Given the description of an element on the screen output the (x, y) to click on. 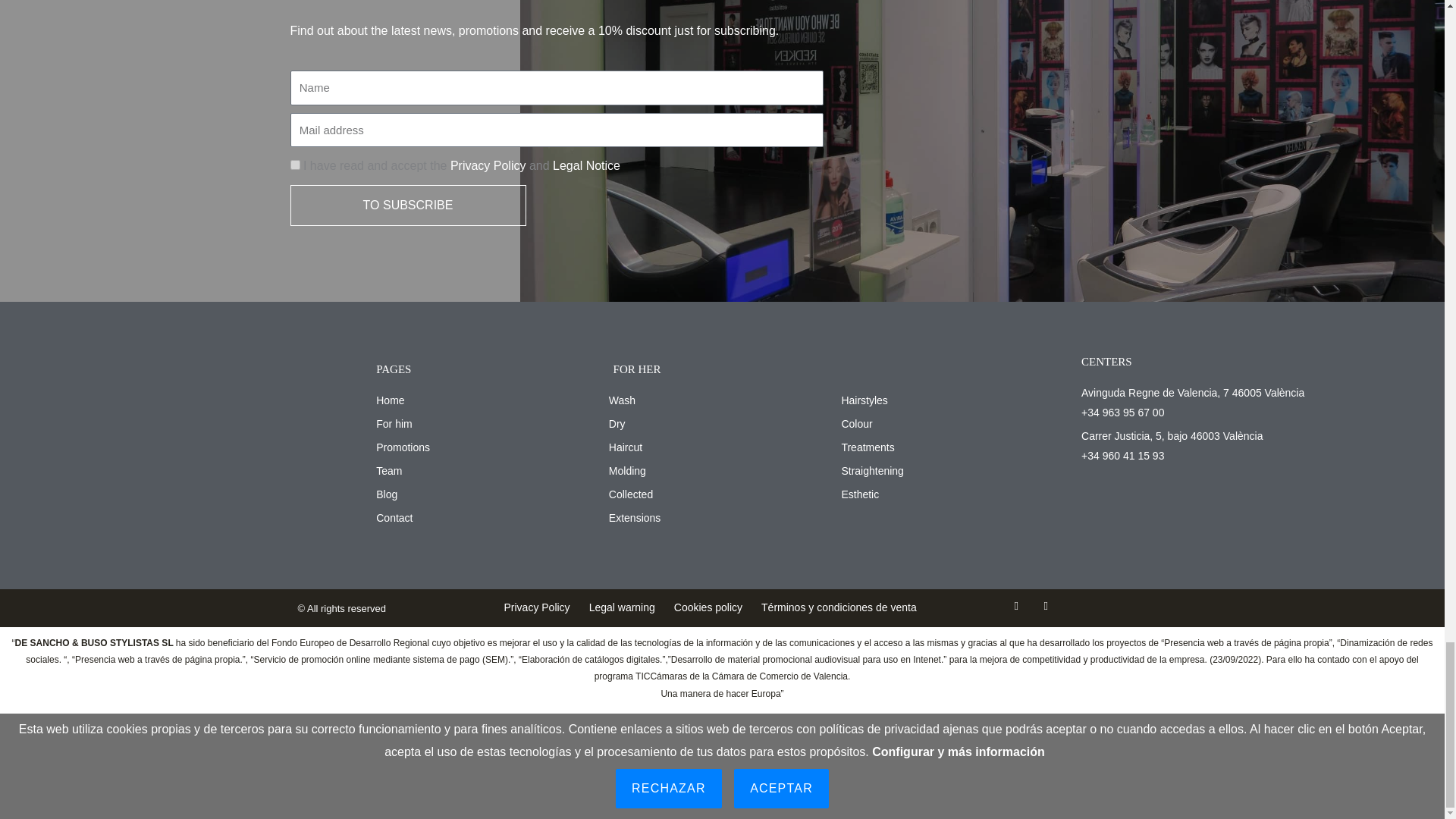
on (294, 164)
